Given the description of an element on the screen output the (x, y) to click on. 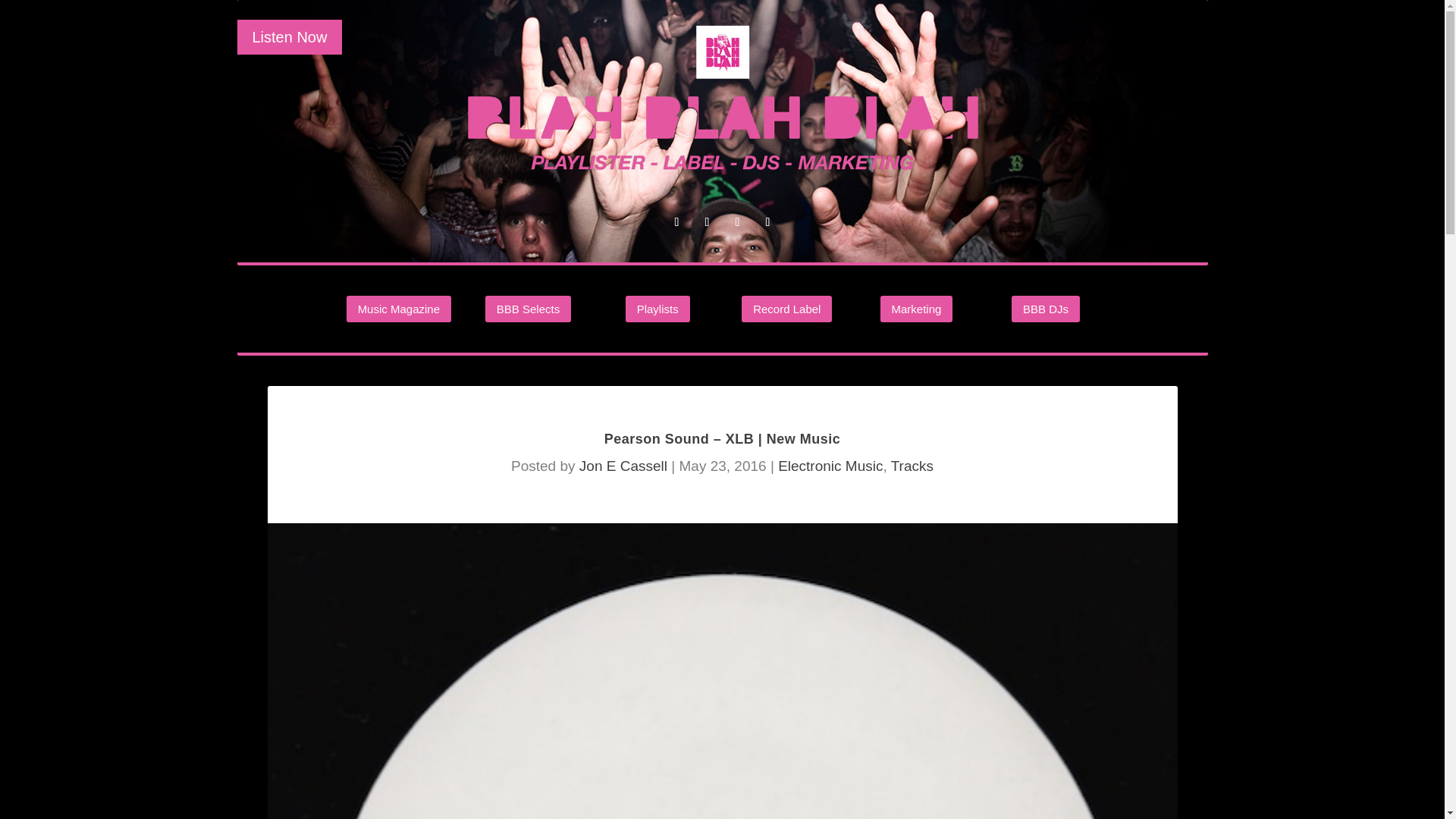
Playlists (658, 308)
Posts by Jon E Cassell (622, 465)
Follow on Spotify (675, 221)
Follow on Facebook (766, 221)
Electronic Music (829, 465)
Jon E Cassell (622, 465)
Follow on Instagram (706, 221)
Music Magazine (398, 308)
Record Label (786, 308)
BBB Selects (527, 308)
